Given the description of an element on the screen output the (x, y) to click on. 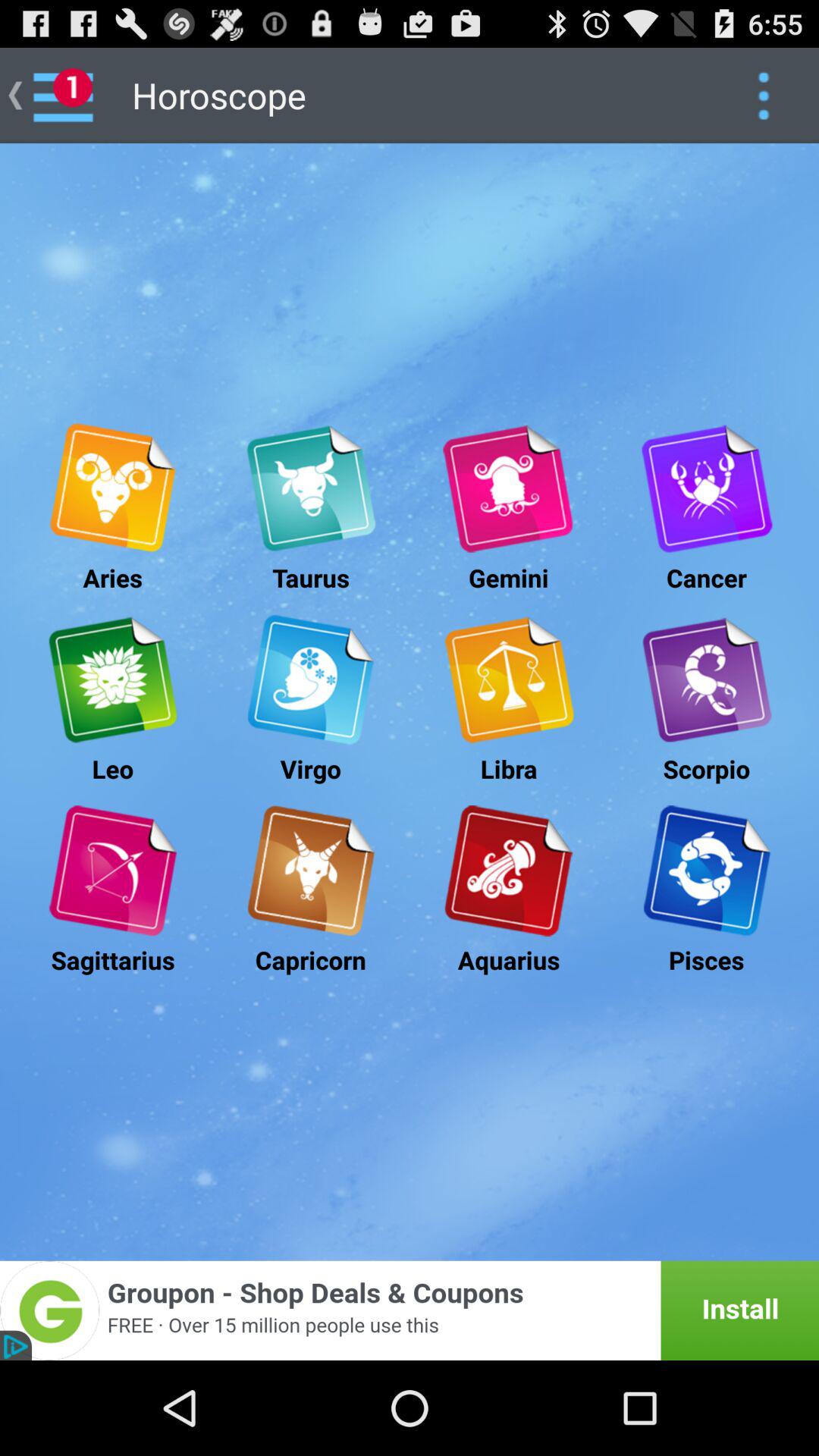
see libra horoscope (508, 679)
